Given the description of an element on the screen output the (x, y) to click on. 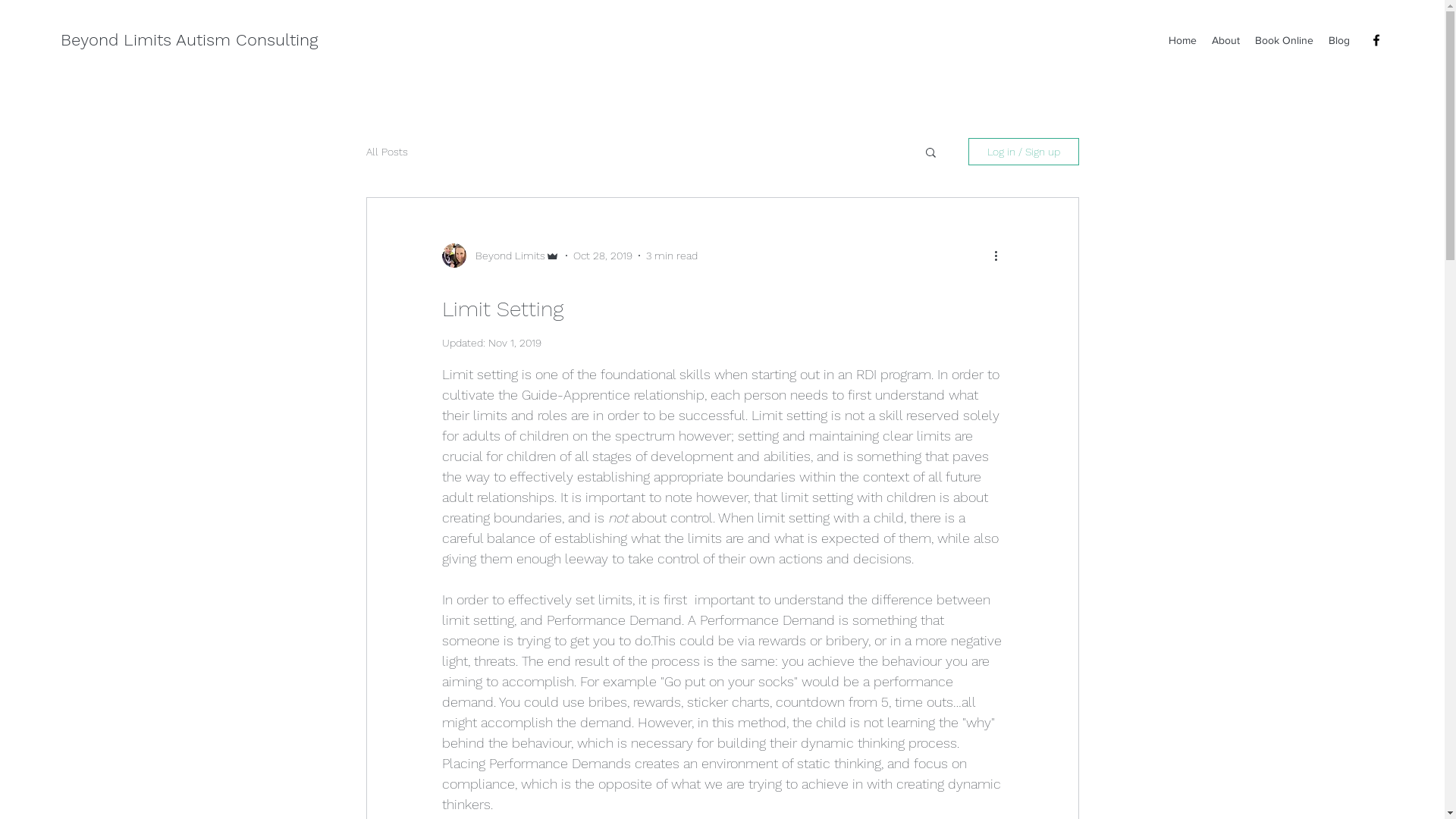
Blog Element type: text (1339, 39)
Book Online Element type: text (1284, 39)
All Posts Element type: text (386, 151)
Beyond Limits Autism Consulting Element type: text (188, 39)
About Element type: text (1225, 39)
Log in / Sign up Element type: text (1022, 151)
Home Element type: text (1182, 39)
